Given the description of an element on the screen output the (x, y) to click on. 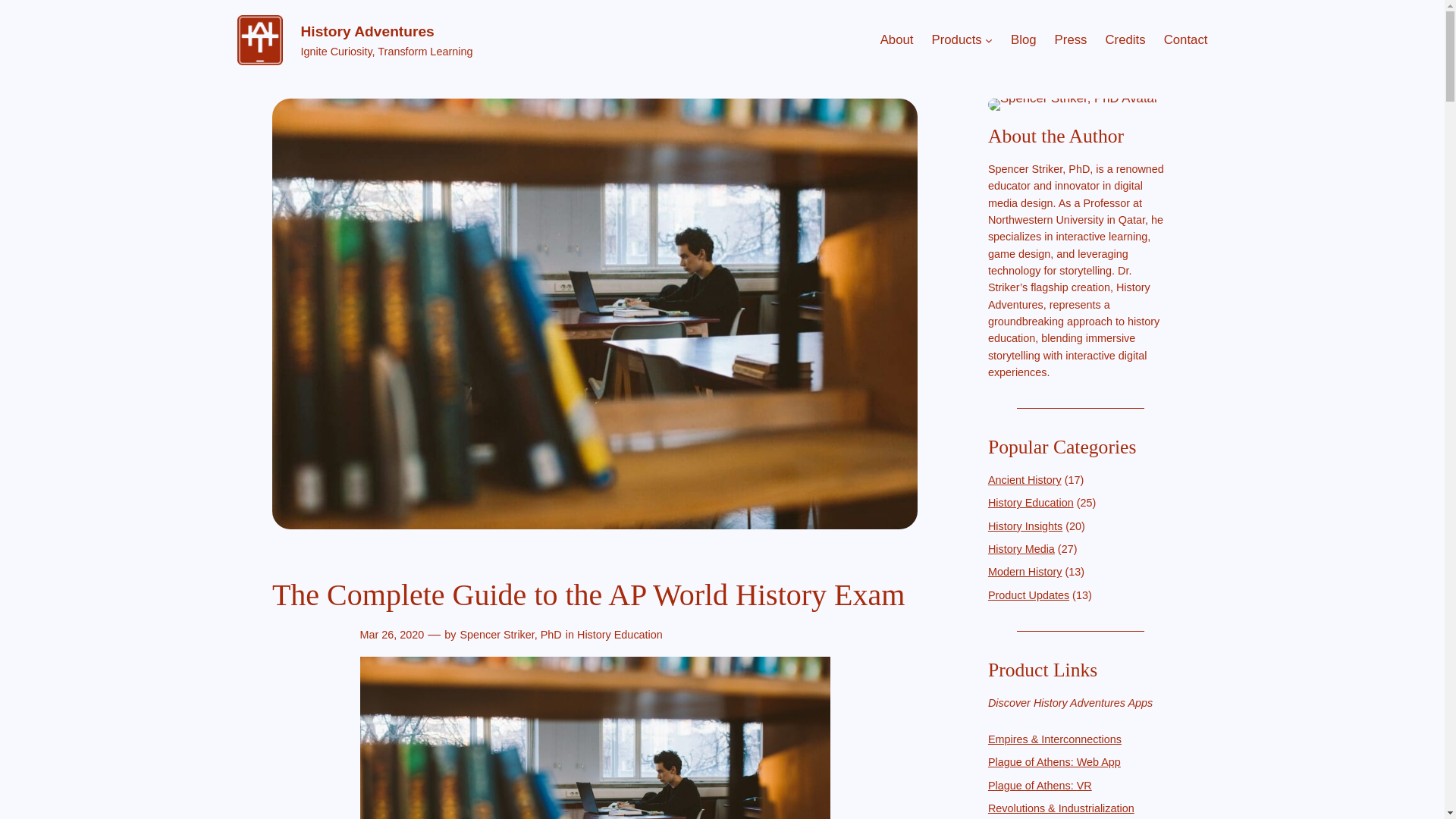
History Adventures (366, 31)
Plague of Athens: VR (1040, 785)
History Media (1021, 548)
History Education (1031, 502)
Press (1070, 39)
Blog (1023, 39)
Product Updates (1028, 594)
Spencer Striker, PhD (510, 634)
History Insights (1025, 526)
Modern History (1025, 571)
History Adventures Blog (1023, 39)
Products (956, 39)
Ancient History (1024, 480)
History Education (619, 634)
Credits (1125, 39)
